Given the description of an element on the screen output the (x, y) to click on. 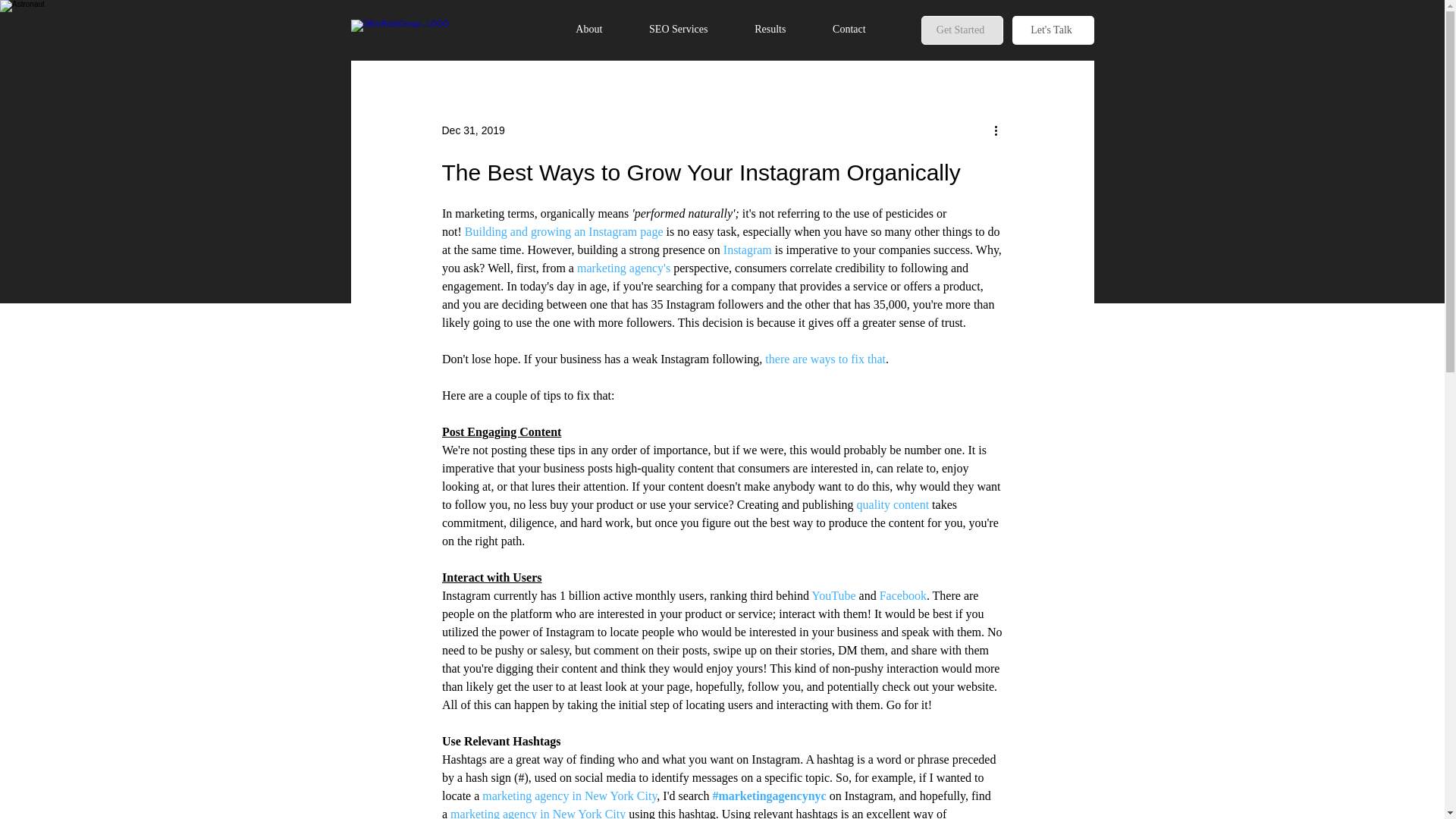
marketing agency in New York City (568, 795)
YouTube (833, 594)
quality content (892, 504)
Contact (848, 29)
Building and growing an Instagram page (563, 231)
Facebook (902, 594)
there are ways to fix that (825, 358)
Dec 31, 2019 (472, 130)
SEO Services (678, 29)
Results (769, 29)
marketing agency in New York City (537, 813)
Instagram (746, 249)
marketing agency's (622, 267)
Let's Talk (1052, 30)
Get Started (961, 30)
